Given the description of an element on the screen output the (x, y) to click on. 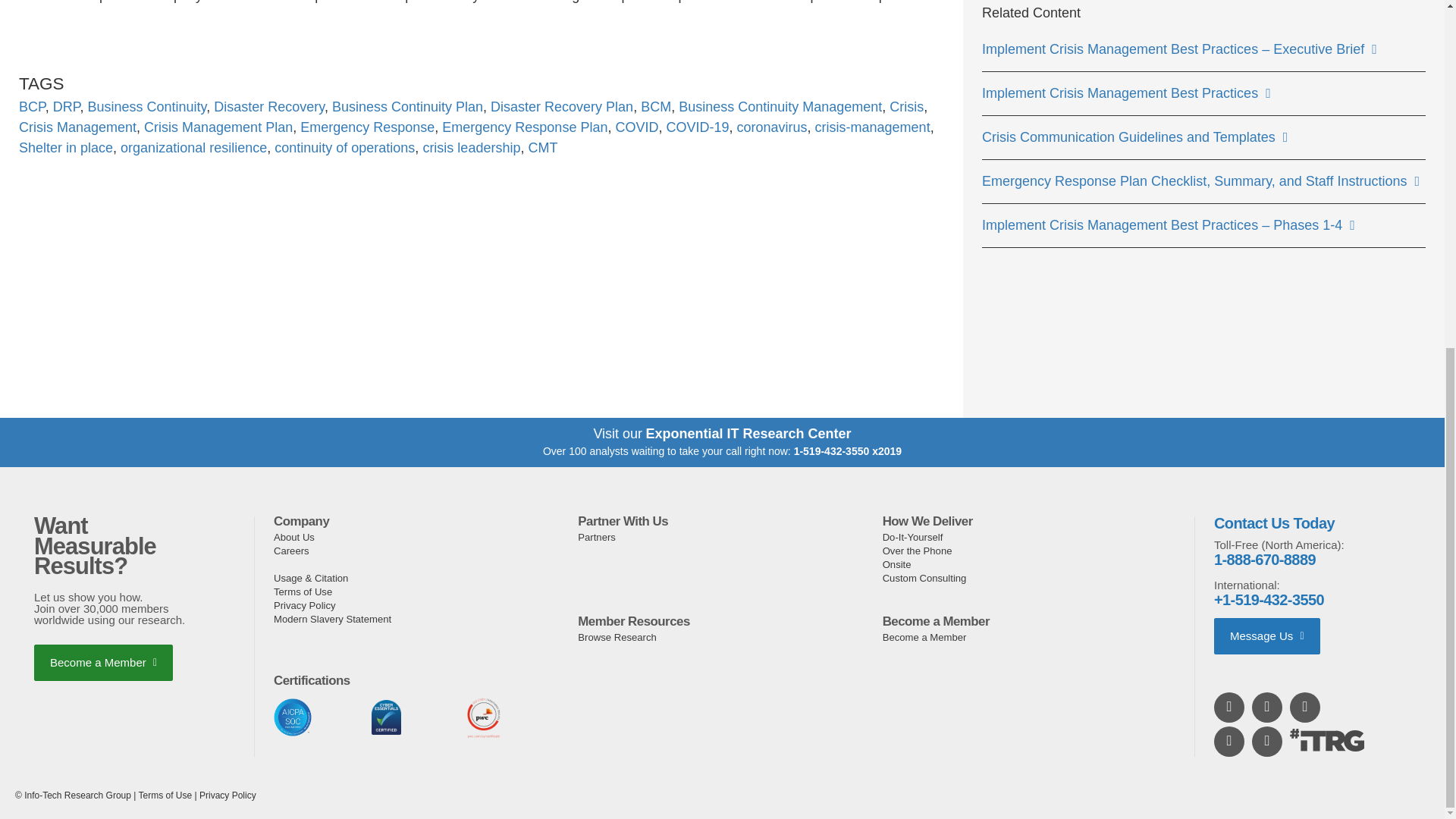
Watch us on YouTube (1267, 707)
Find us on LinkedIn (1230, 707)
Folow us on Twitter (1305, 707)
Hashtag ITRG icon (1327, 739)
Folow us on Instagram (1230, 740)
Folow us on TikTok (1267, 740)
